Given the description of an element on the screen output the (x, y) to click on. 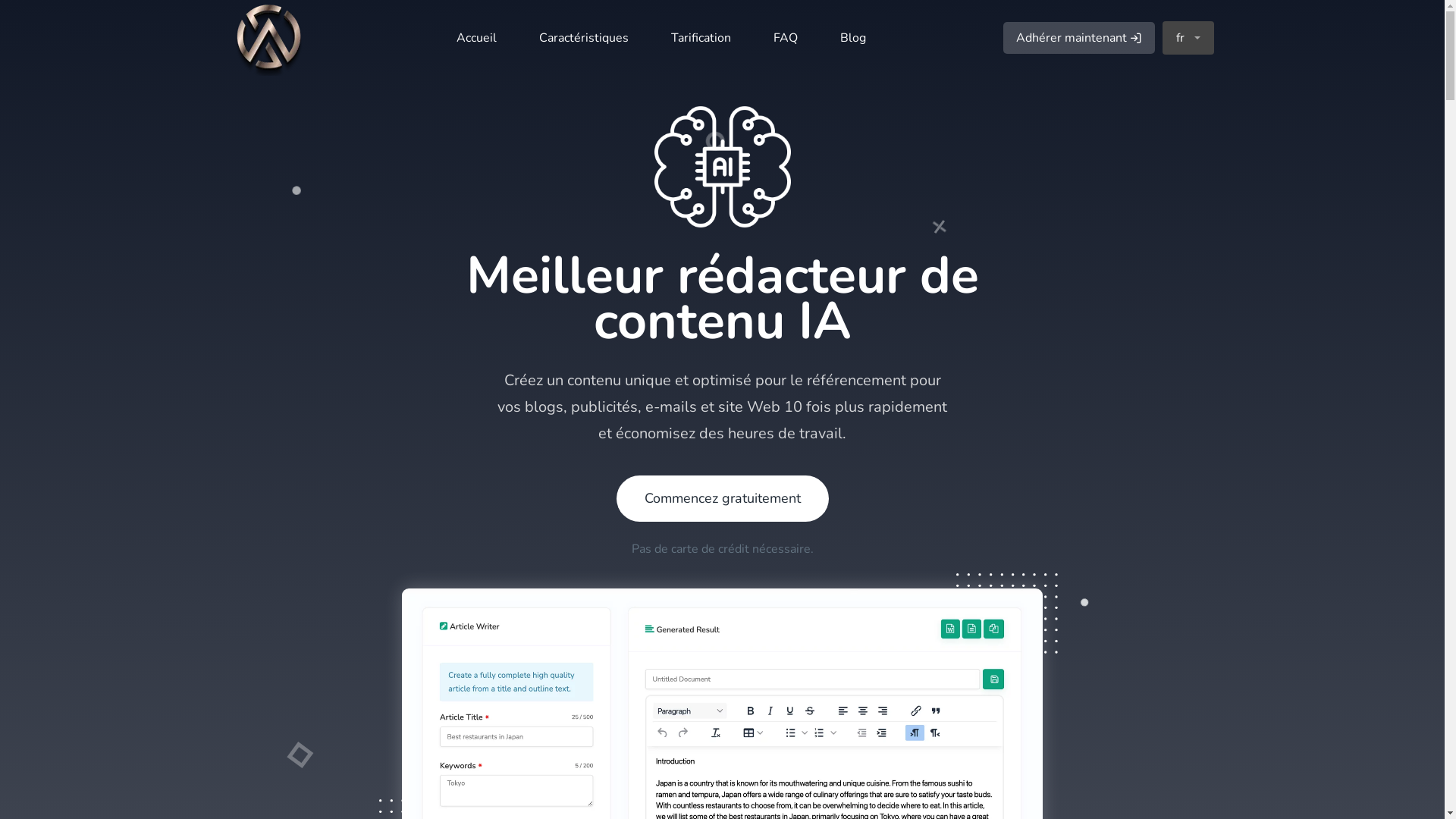
Commencez gratuitement Element type: text (721, 498)
Blog Element type: text (853, 37)
Accueil Element type: text (476, 37)
FAQ Element type: text (785, 37)
Tarification Element type: text (700, 37)
fr
  Element type: text (1187, 37)
